Given the description of an element on the screen output the (x, y) to click on. 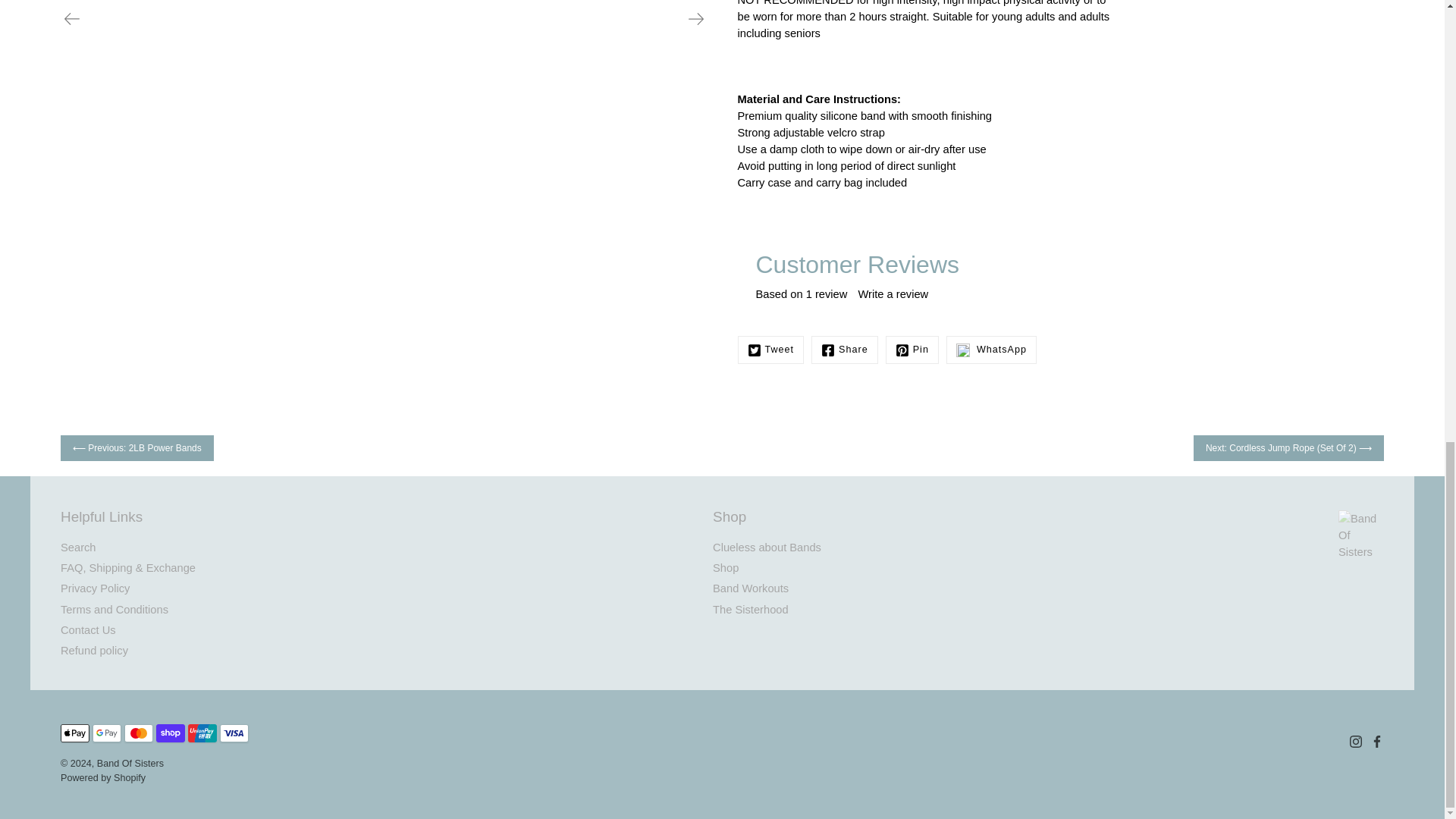
Shop Pay (169, 732)
Google Pay (106, 732)
Pinterest (912, 349)
Visa (233, 732)
Twitter (769, 349)
Facebook (843, 349)
Apple Pay (74, 732)
Mastercard (137, 732)
Union Pay (201, 732)
